Given the description of an element on the screen output the (x, y) to click on. 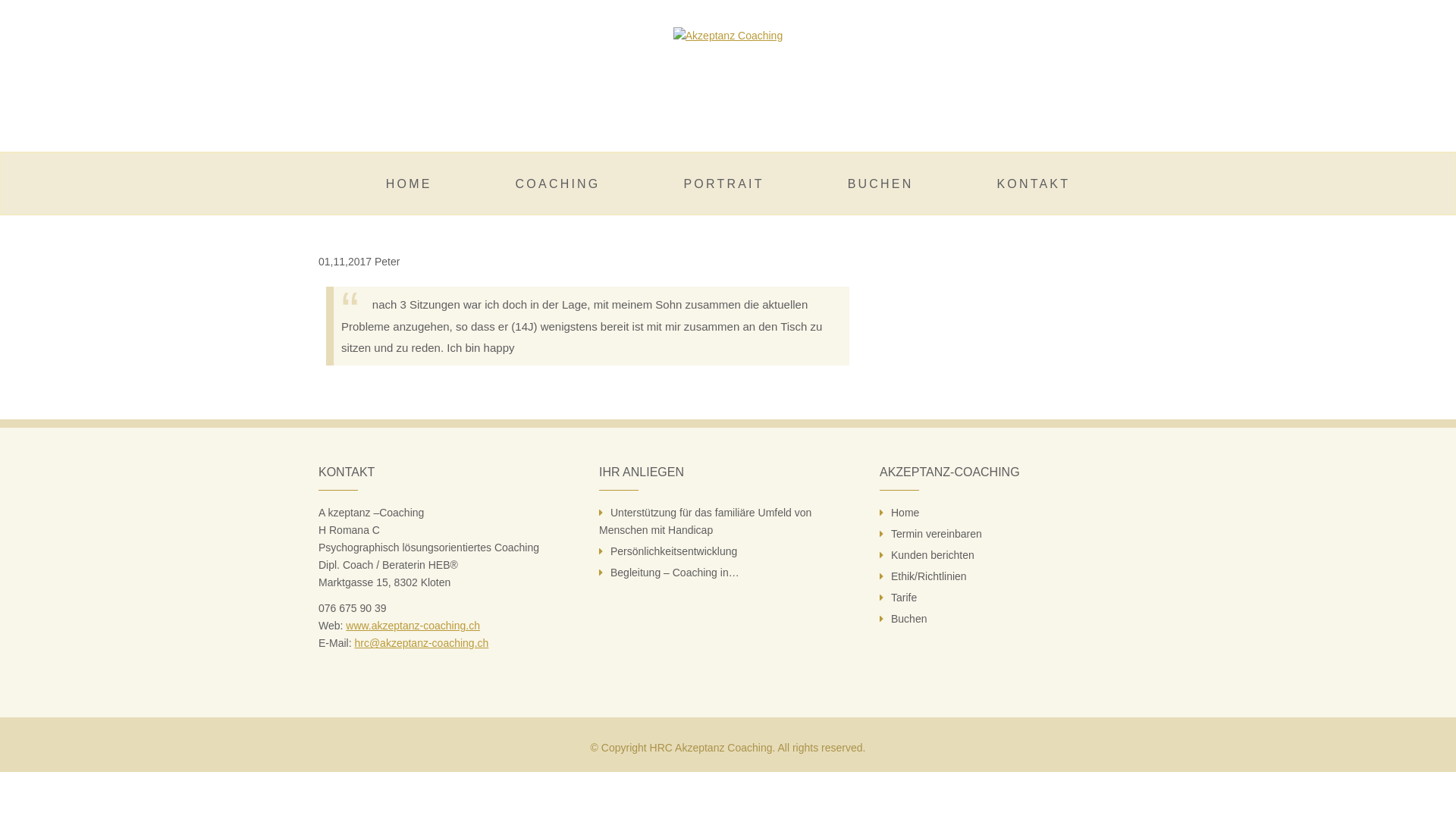
Akzeptanz Coaching Element type: hover (727, 34)
PORTRAIT Element type: text (723, 184)
HOME Element type: text (408, 184)
www.akzeptanz-coaching.ch Element type: text (412, 625)
Tarife Element type: text (903, 597)
COACHING Element type: text (557, 184)
hrc@akzeptanz-coaching.ch Element type: text (421, 643)
KONTAKT Element type: text (1032, 184)
BUCHEN Element type: text (880, 184)
Buchen Element type: text (908, 618)
Ethik/Richtlinien Element type: text (928, 576)
Kunden berichten Element type: text (932, 555)
Home Element type: text (905, 512)
Termin vereinbaren Element type: text (936, 533)
